Given the description of an element on the screen output the (x, y) to click on. 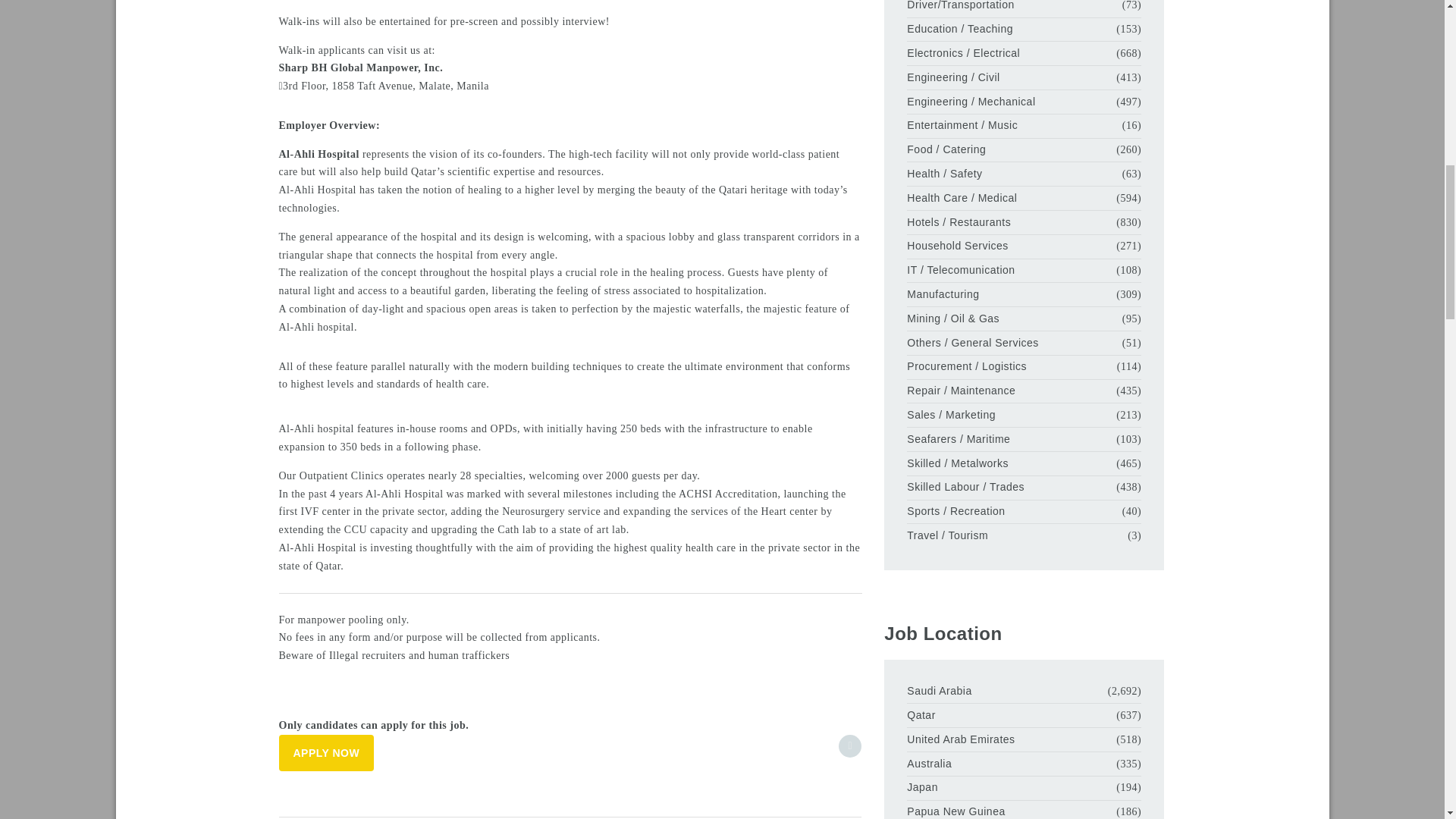
Al-Ahli Hospital (319, 153)
APPLY NOW (326, 752)
